Given the description of an element on the screen output the (x, y) to click on. 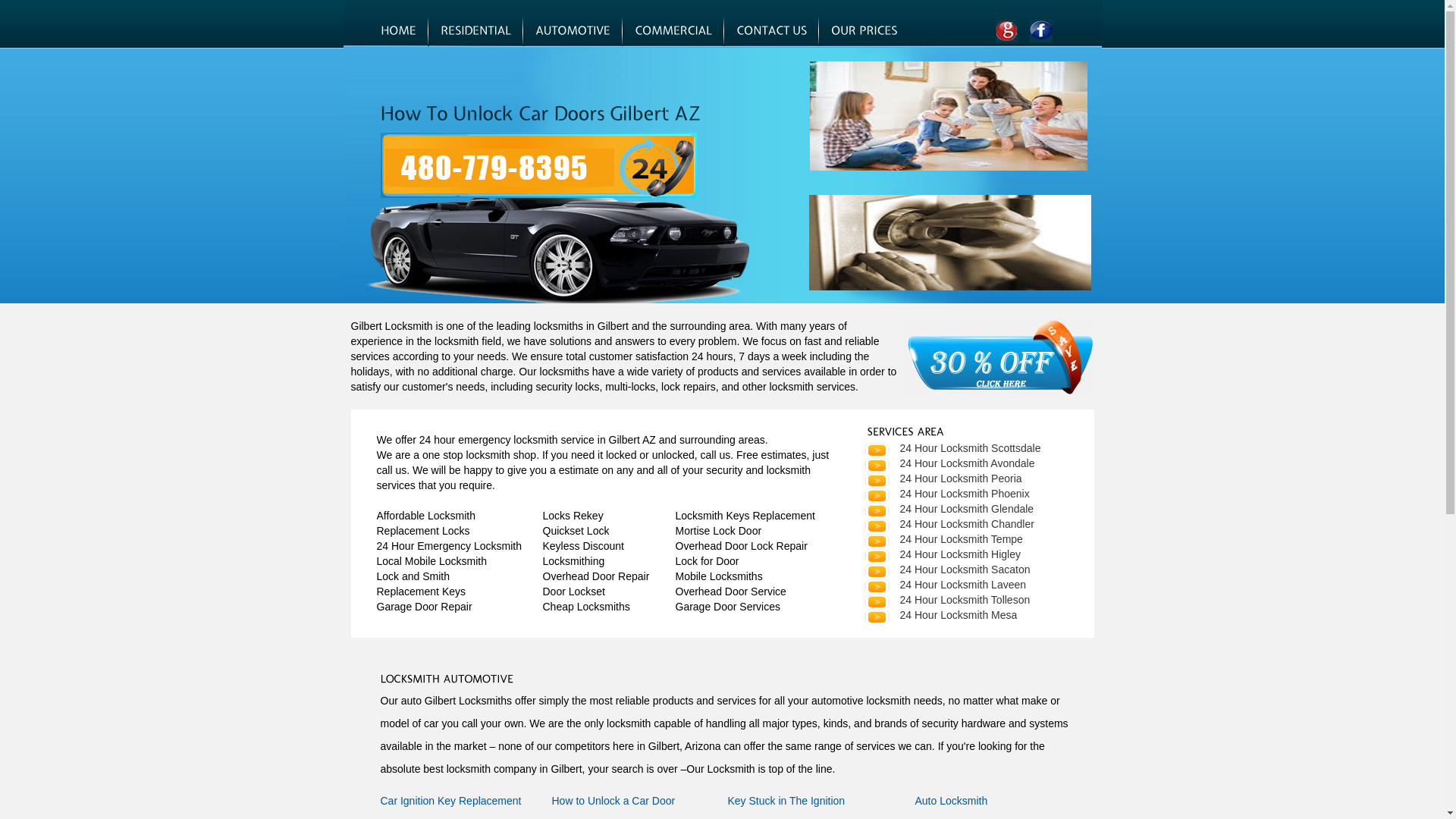
24 Hour Locksmith Glendale Element type: text (947, 508)
Door Lockset Element type: text (573, 591)
Locksmithing Element type: text (573, 561)
Replacement Locks Element type: text (422, 530)
24 Hour Locksmith Laveen Element type: text (944, 584)
How to Unlock a Car Door Element type: text (613, 800)
24 Hour Locksmith Tolleson Element type: text (945, 599)
Auto Locksmith Element type: text (950, 800)
24 Hour Locksmith Scottsdale Element type: text (951, 447)
Mortise Lock Door Element type: text (717, 530)
Cheap Locksmiths Element type: text (586, 606)
Replacement Keys Element type: text (420, 591)
Quickset Lock Element type: text (575, 530)
Car Ignition Key Replacement Element type: text (450, 800)
Local Mobile Locksmith Element type: text (431, 561)
Garage Door Services Element type: text (727, 606)
Mobile Locksmiths Element type: text (718, 576)
Key Stuck in The Ignition Element type: text (786, 800)
24 Hour Locksmith Phoenix Element type: text (945, 493)
24 Hour Locksmith Avondale Element type: text (948, 462)
24 Hour Emergency Locksmith Element type: text (448, 545)
24 Hour Locksmith Mesa Element type: text (939, 614)
24 Hour Locksmith Tempe Element type: text (942, 538)
Lock and Smith Element type: text (412, 576)
Overhead Door Service Element type: text (729, 591)
Garage Door Repair Element type: text (423, 606)
Overhead Door Lock Repair Element type: text (740, 545)
Locks Rekey Element type: text (572, 515)
24 Hour Locksmith Chandler Element type: text (947, 523)
Keyless Discount Element type: text (583, 545)
24 Hour Locksmith Higley Element type: text (941, 553)
Overhead Door Repair Element type: text (595, 576)
Lock for Door Element type: text (706, 561)
24 Hour Locksmith Sacaton Element type: text (945, 569)
Affordable Locksmith Element type: text (425, 515)
Locksmith Keys Replacement Element type: text (744, 515)
24 Hour Locksmith Peoria Element type: text (941, 478)
